Given the description of an element on the screen output the (x, y) to click on. 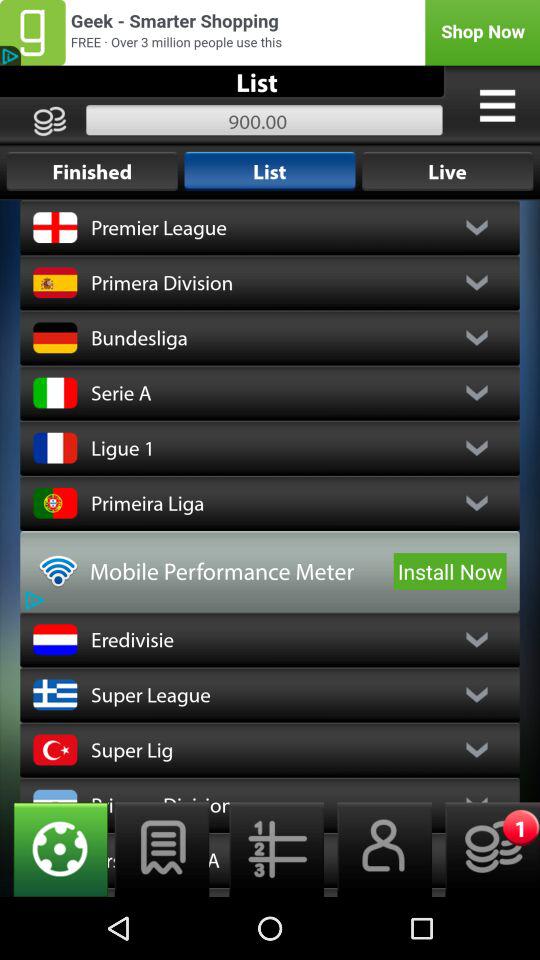
open the icon to the left of install now (238, 571)
